Given the description of an element on the screen output the (x, y) to click on. 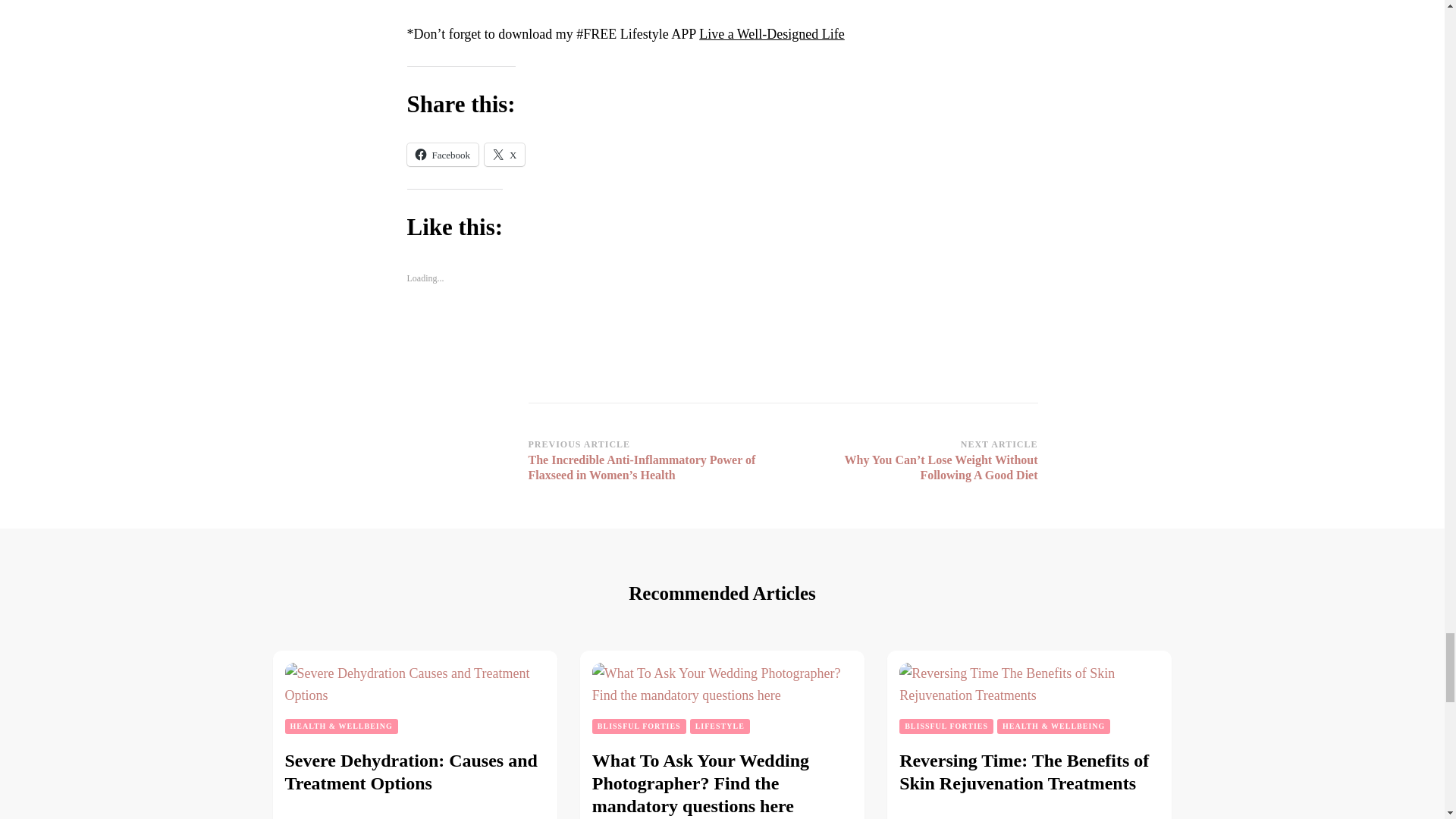
Click to share on Facebook (442, 154)
Click to share on X (504, 154)
